Given the description of an element on the screen output the (x, y) to click on. 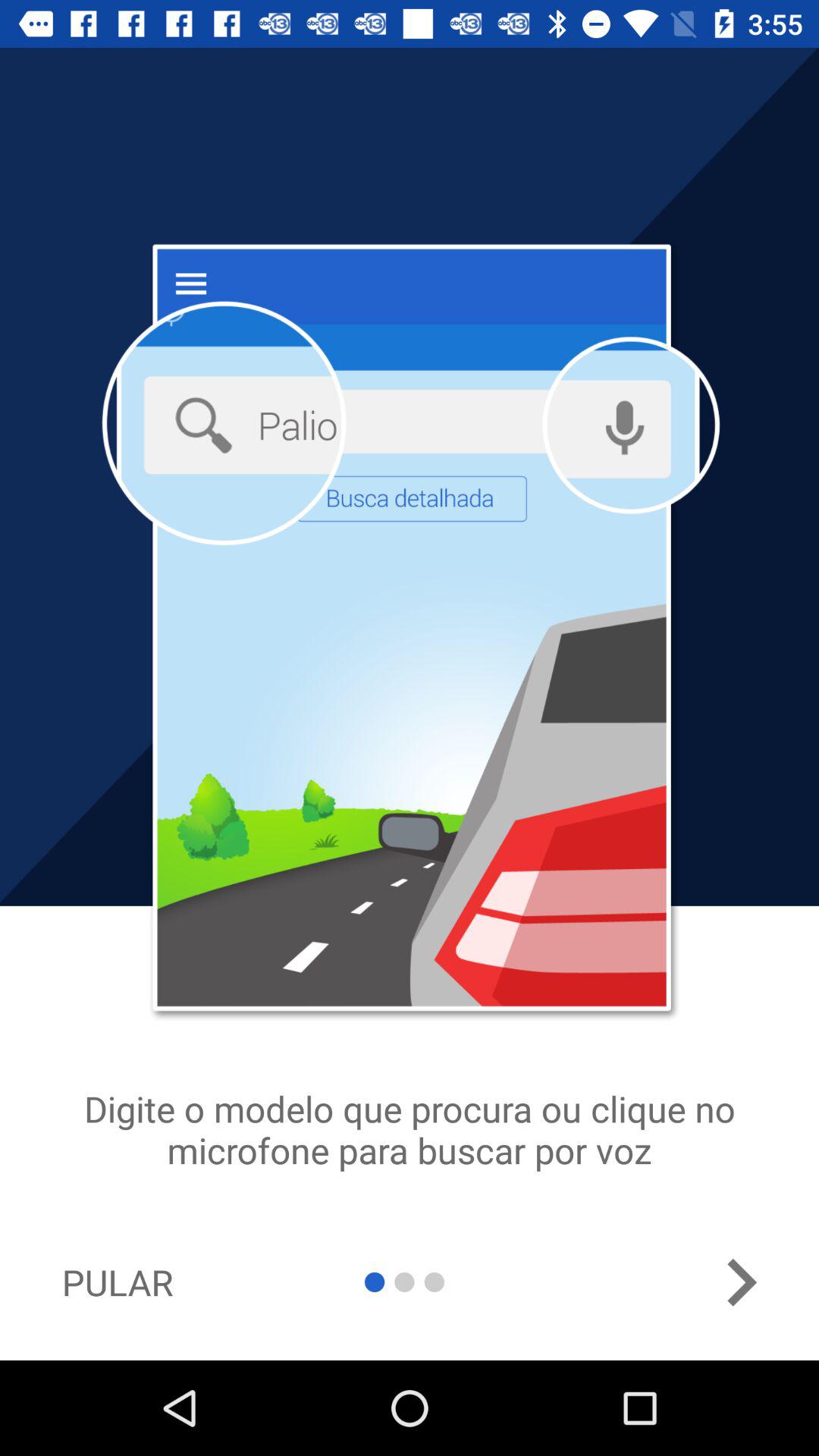
select icon at the bottom left corner (117, 1282)
